Given the description of an element on the screen output the (x, y) to click on. 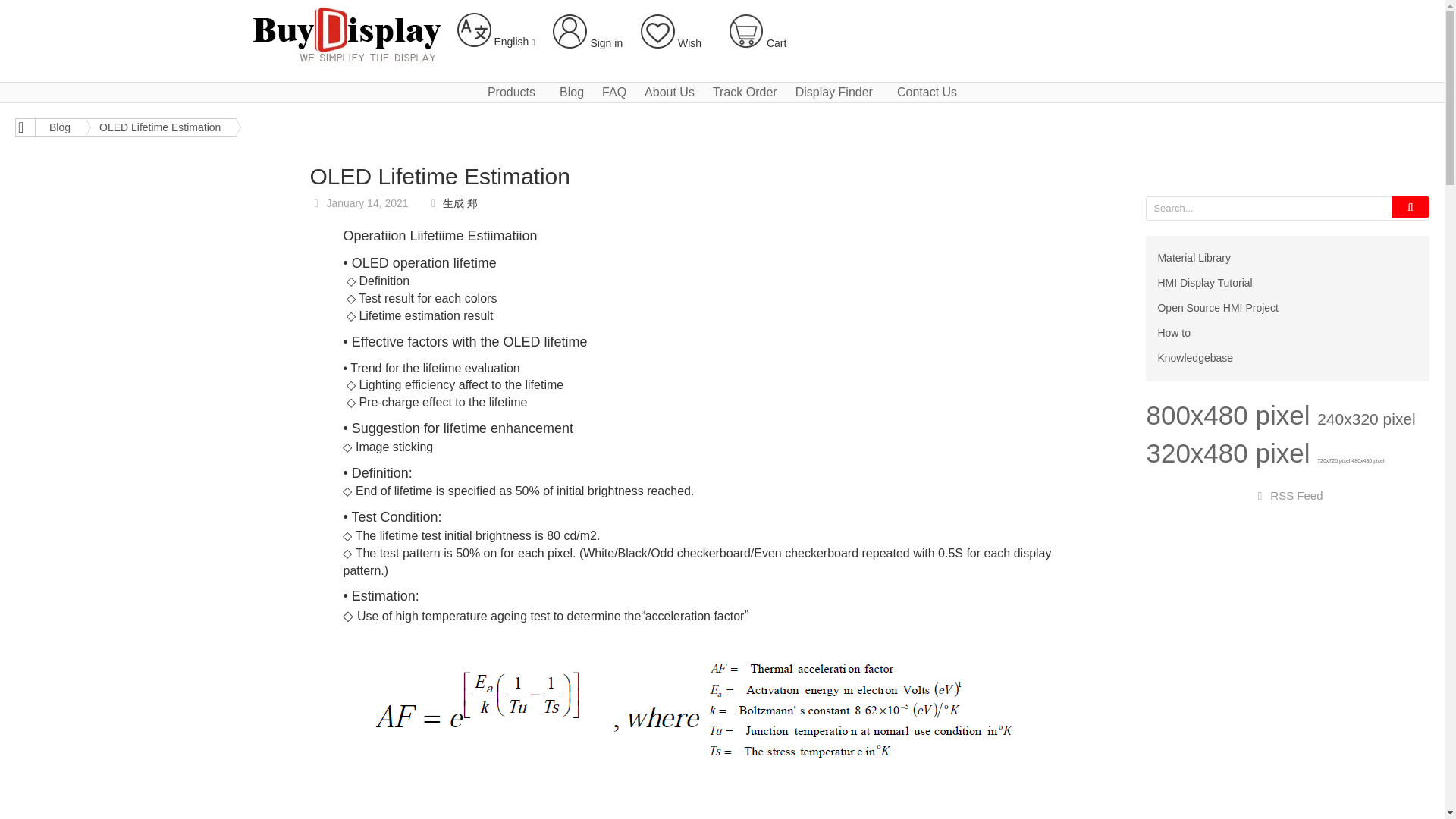
Products (514, 92)
Blog (59, 127)
Sign in (588, 42)
BuyDisplay.com (346, 33)
Cart (757, 32)
Wish (670, 42)
